Given the description of an element on the screen output the (x, y) to click on. 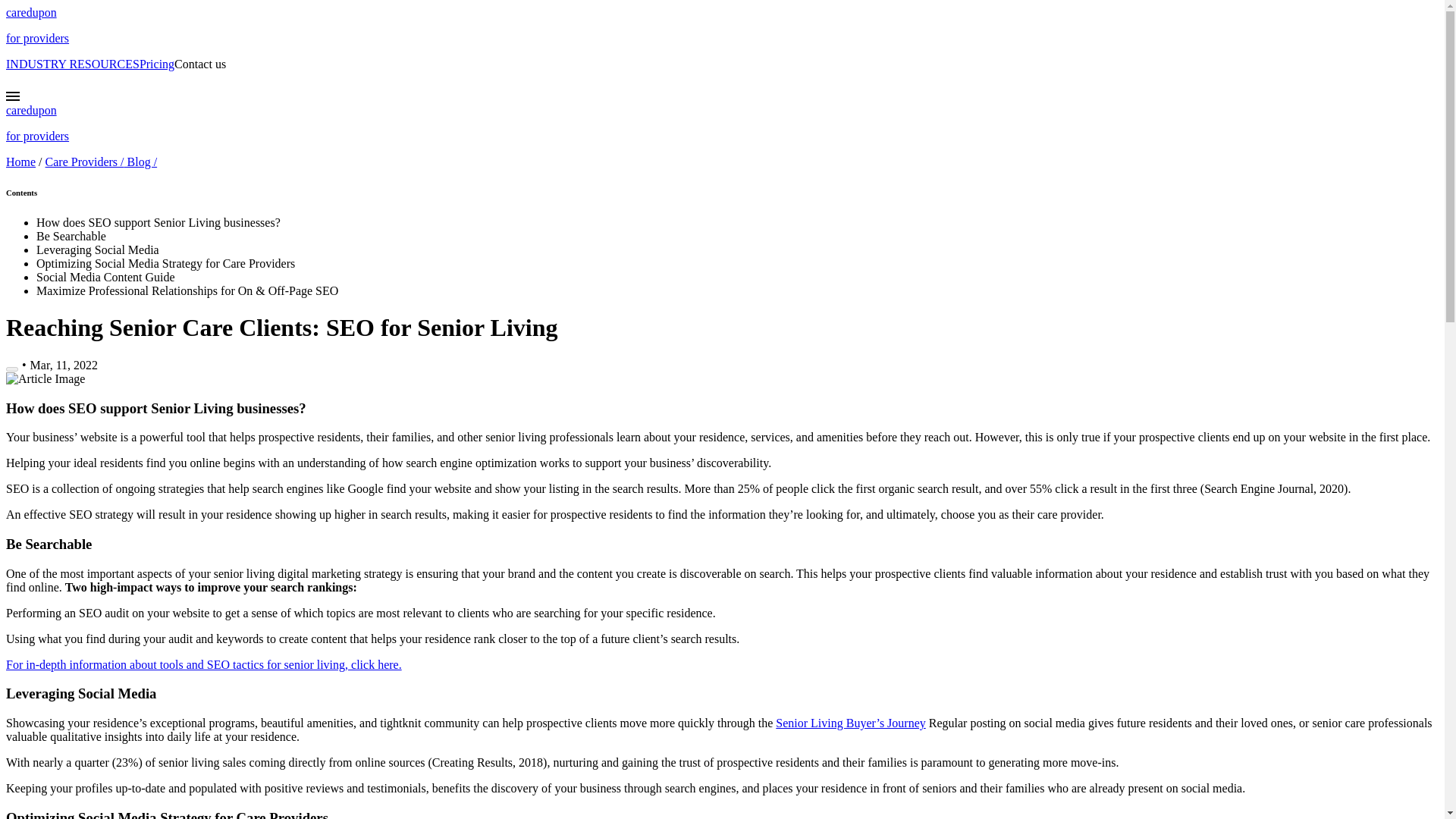
INDUSTRY RESOURCES (72, 63)
Pricing (156, 63)
Home (19, 161)
Contact us (199, 63)
